Given the description of an element on the screen output the (x, y) to click on. 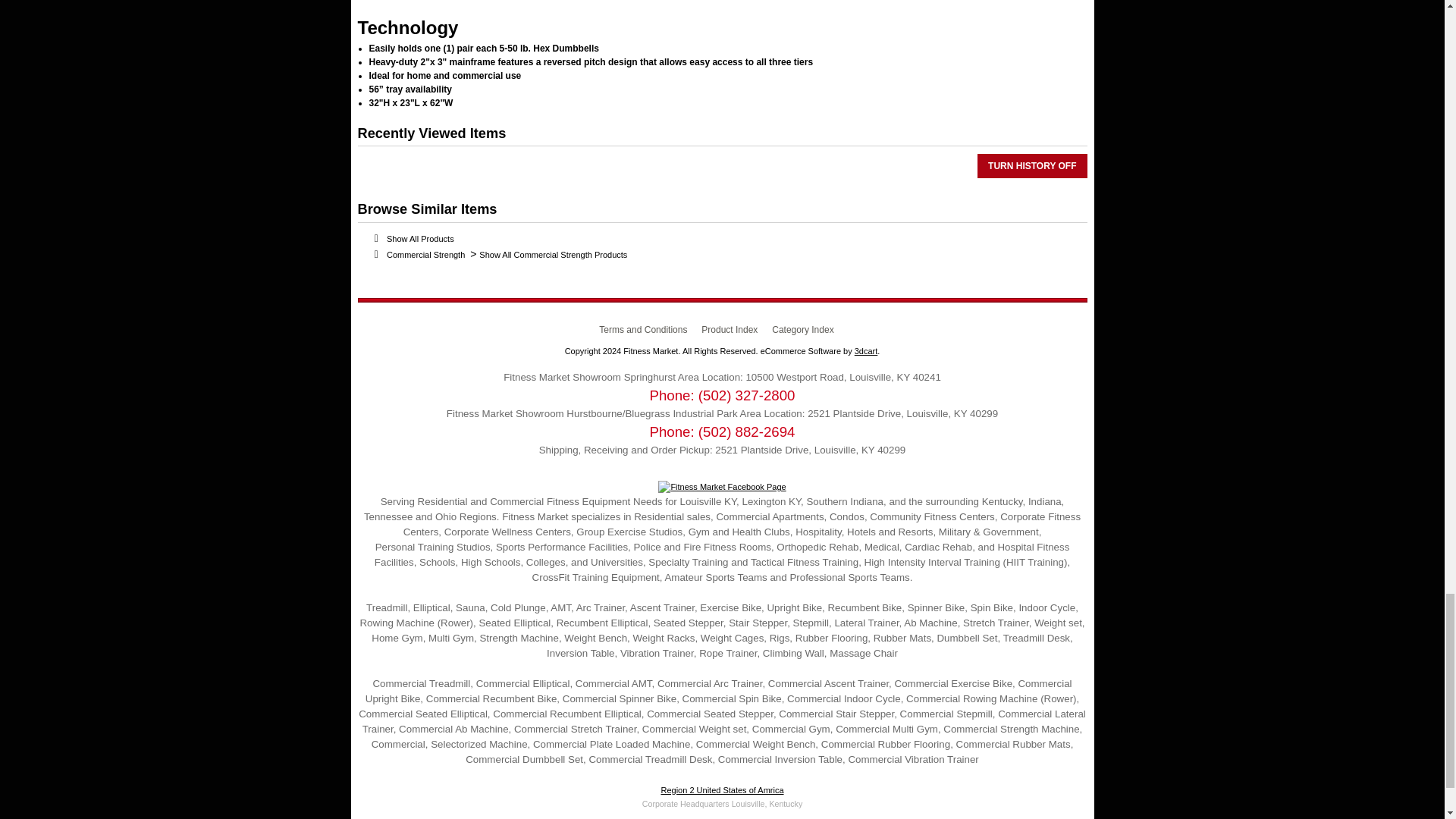
Turn History Off (1031, 165)
